Given the description of an element on the screen output the (x, y) to click on. 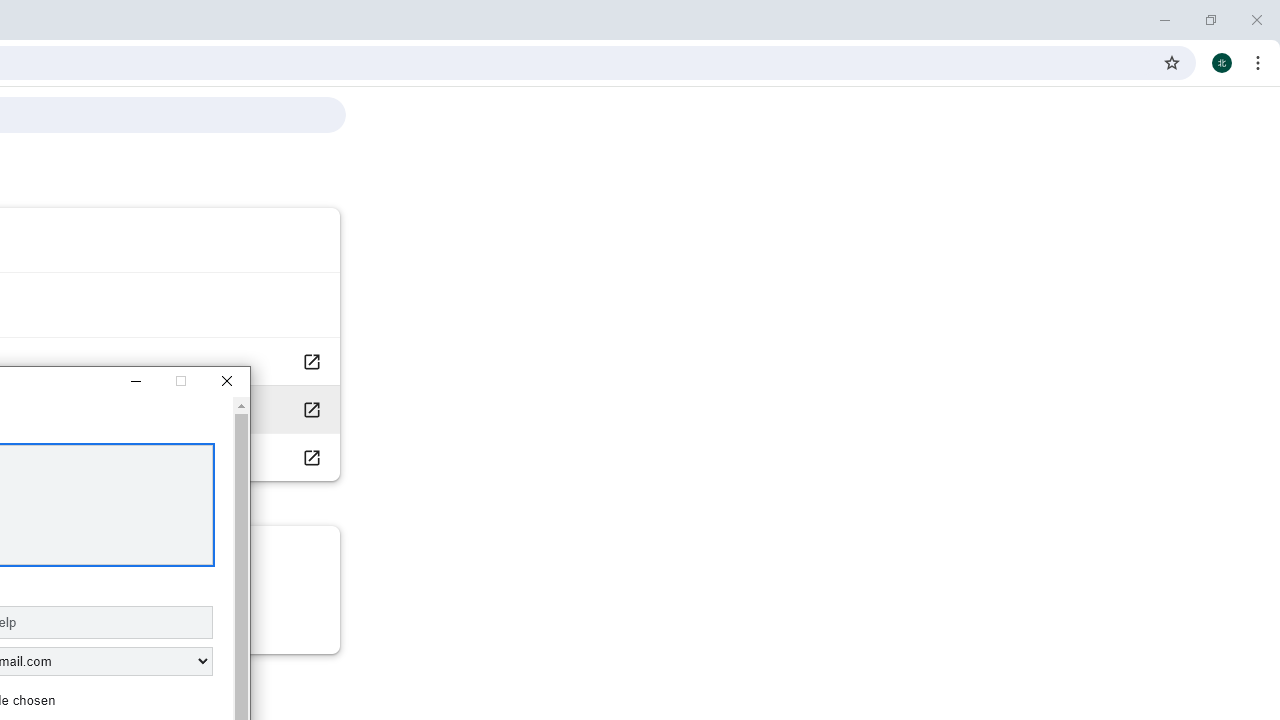
Maximize (180, 381)
Report an issue (310, 409)
Privacy policy (310, 456)
Get help with Chrome (310, 361)
